Given the description of an element on the screen output the (x, y) to click on. 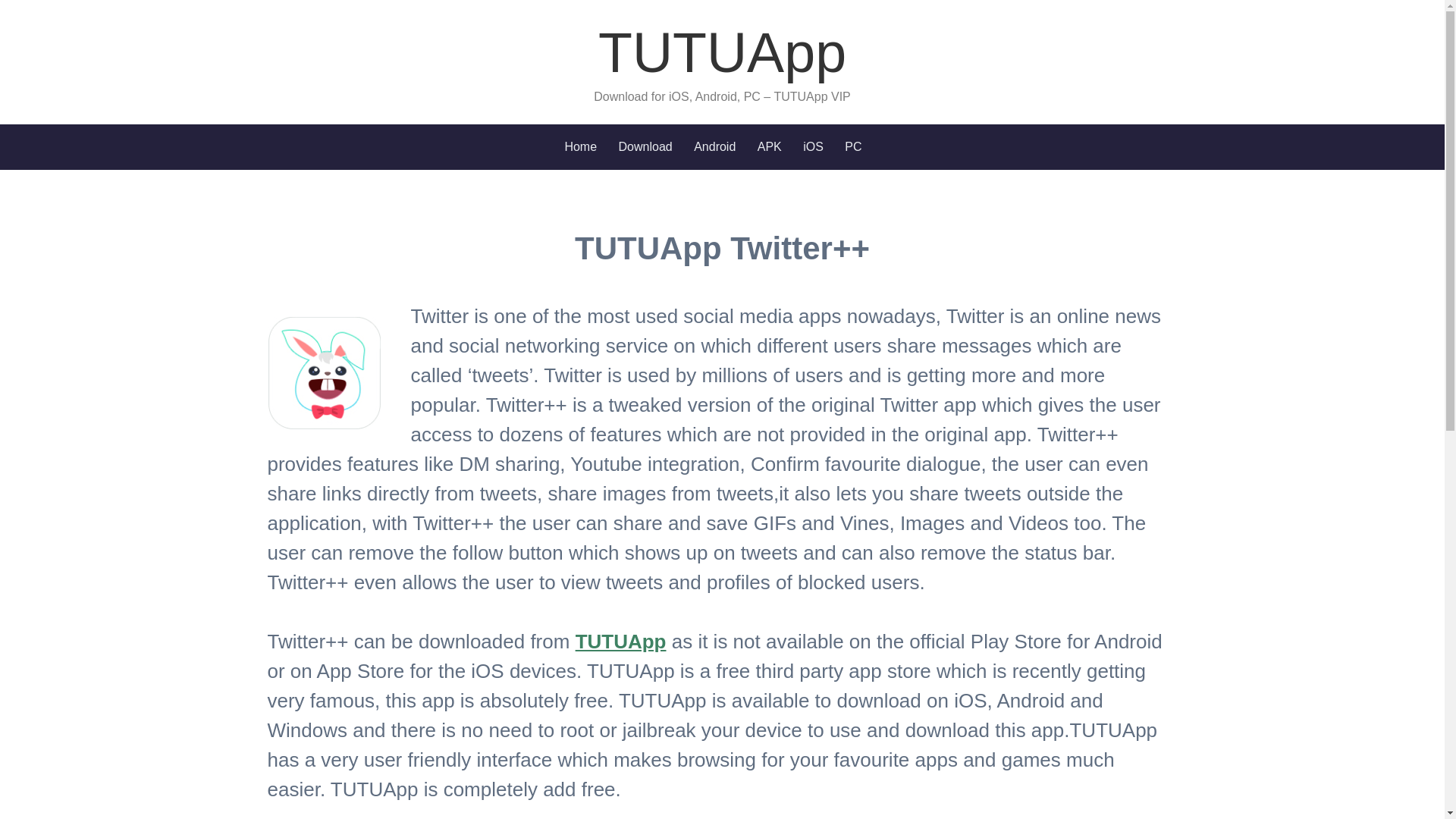
Android (714, 146)
TUTUApp (620, 640)
TUTUApp (721, 52)
Download (645, 146)
Home (580, 146)
Skip to content (40, 137)
